Given the description of an element on the screen output the (x, y) to click on. 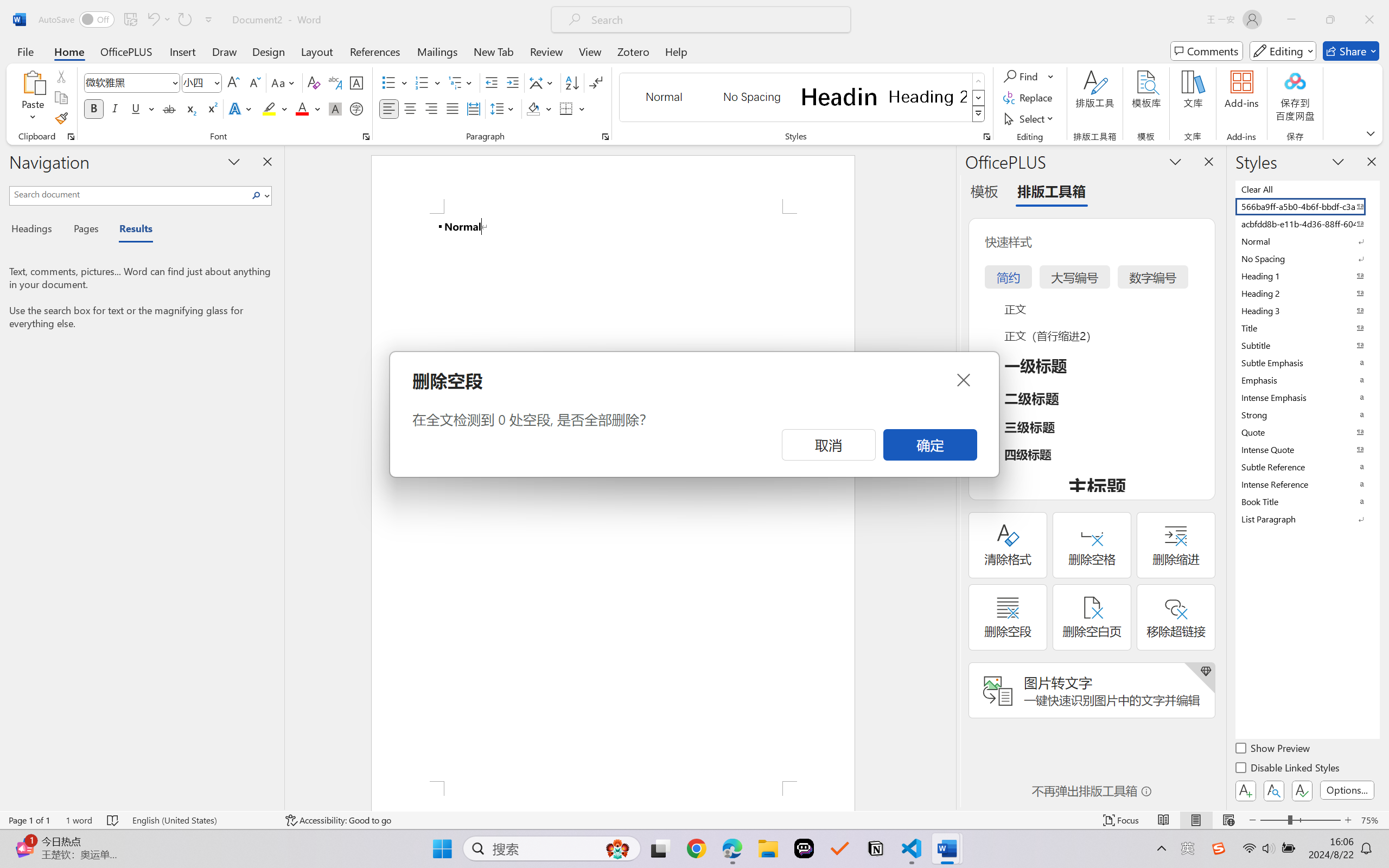
Layout (316, 51)
Format Painter (60, 118)
Phonetic Guide... (334, 82)
Numbering (428, 82)
Character Border (356, 82)
Save (130, 19)
Paste (33, 81)
Bold (94, 108)
Intense Emphasis (1306, 397)
Search document (128, 193)
Design (268, 51)
Focus  (1121, 819)
Find (1029, 75)
